Given the description of an element on the screen output the (x, y) to click on. 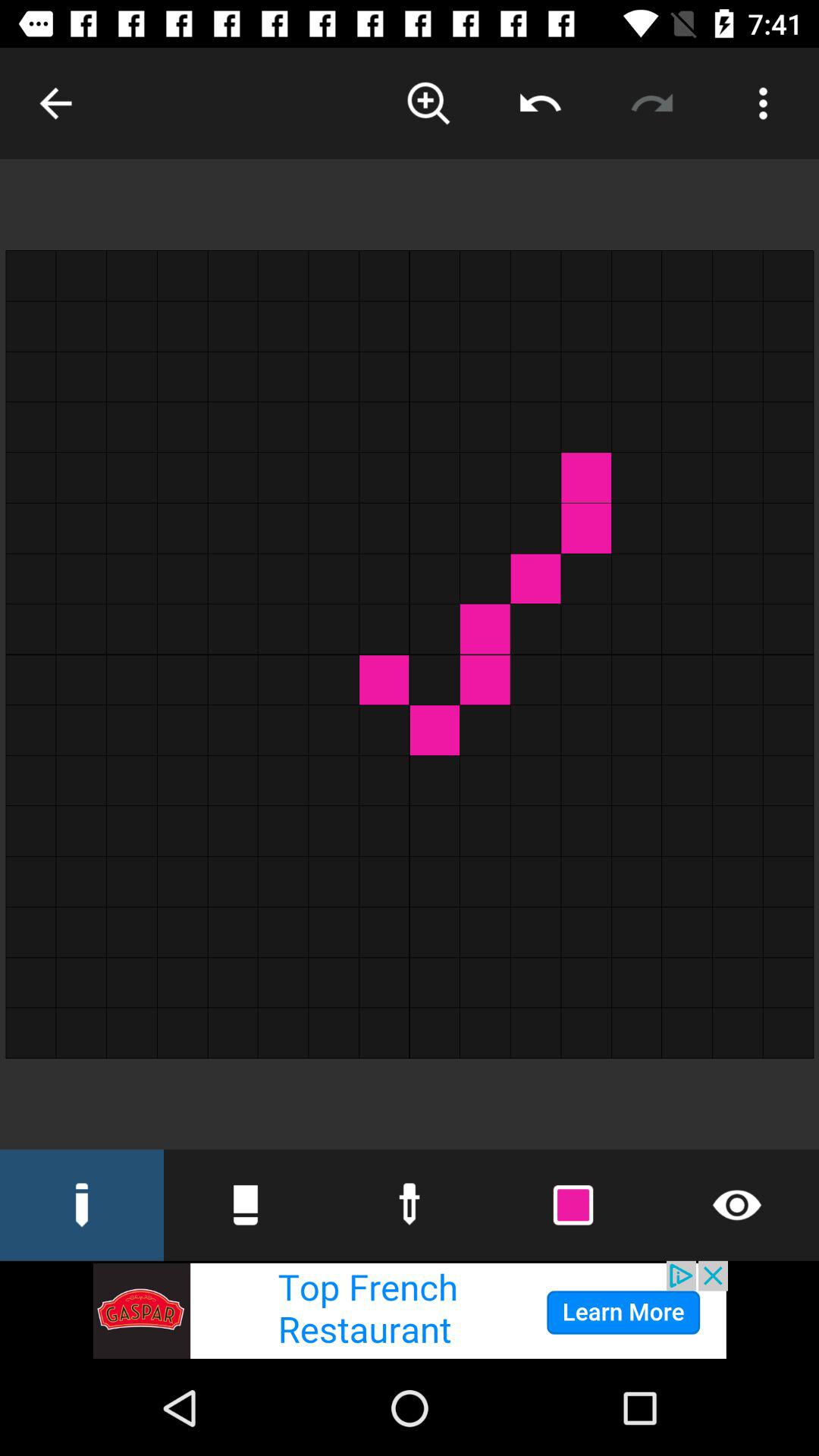
redo (651, 103)
